Given the description of an element on the screen output the (x, y) to click on. 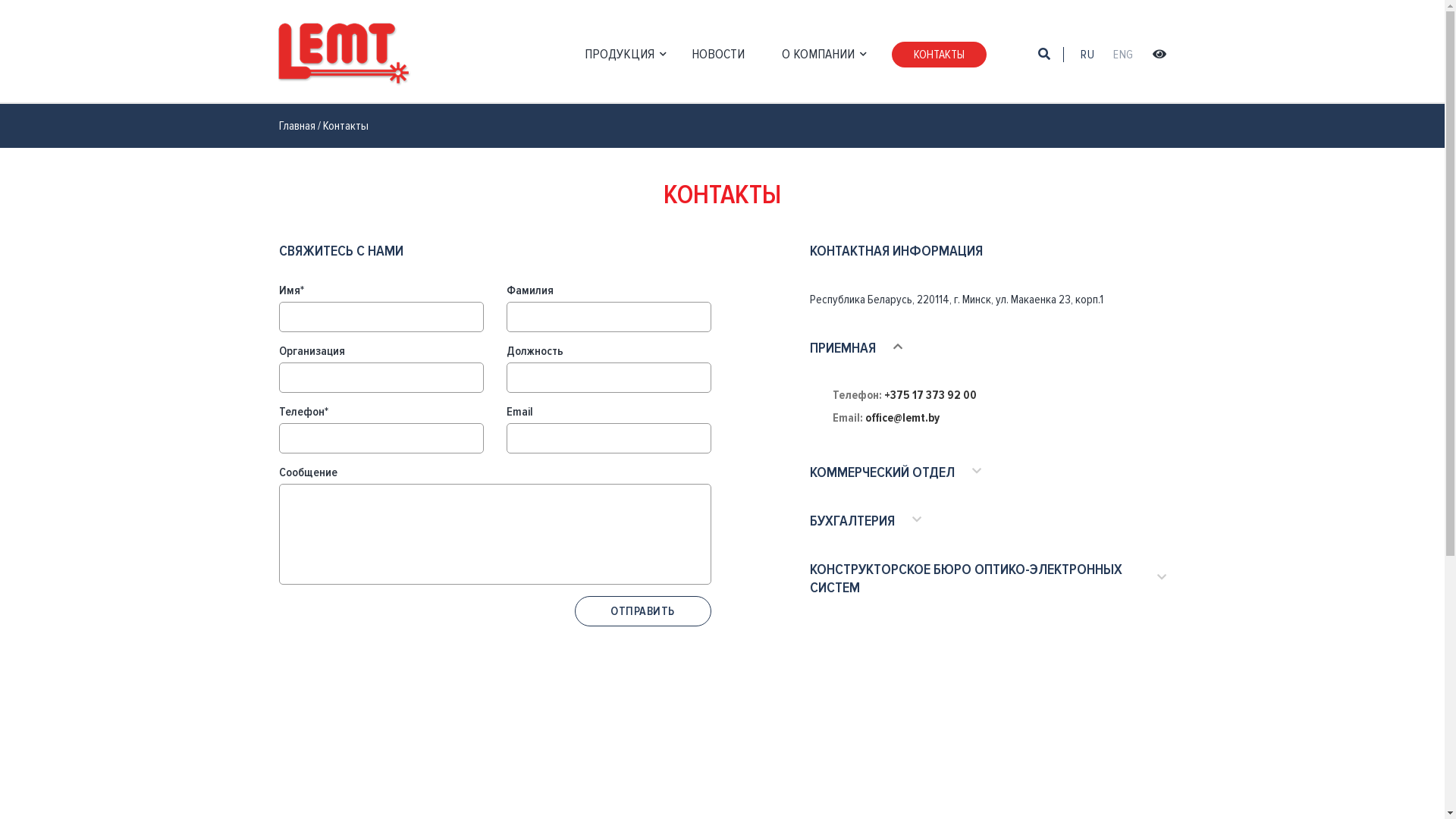
+375 17 373 92 00 Element type: text (930, 394)
RU Element type: text (1087, 54)
ENG Element type: text (1122, 54)
office@lemt.by Element type: text (901, 417)
